Given the description of an element on the screen output the (x, y) to click on. 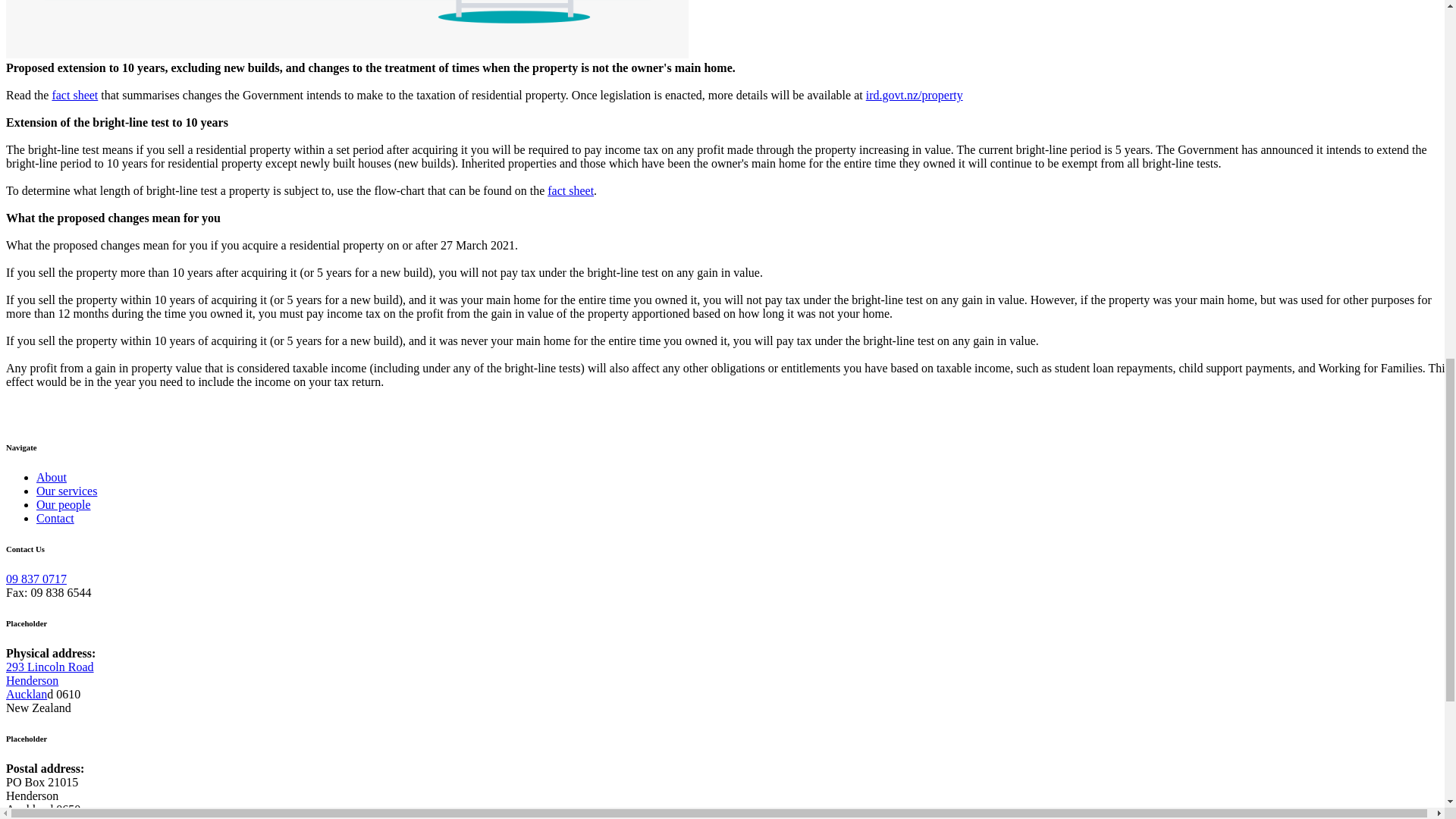
Our services (66, 490)
Contact (55, 517)
Bright-line test proposed changes (346, 29)
fact sheet (73, 94)
fact sheet (570, 190)
About (49, 680)
09 837 0717 (51, 477)
Our people (35, 578)
